Given the description of an element on the screen output the (x, y) to click on. 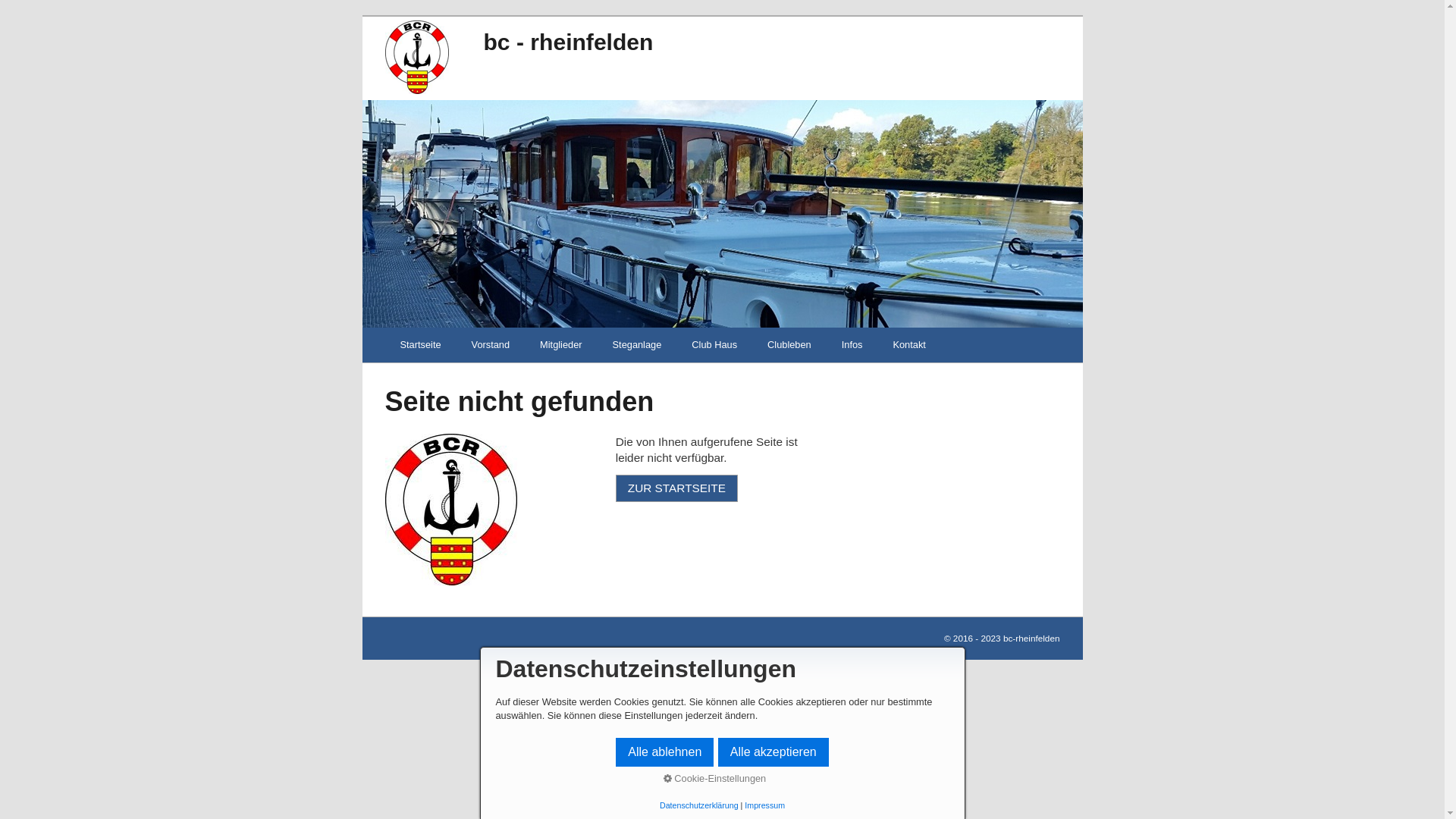
Club Haus Element type: text (714, 344)
Clubleben Element type: text (789, 344)
Alle akzeptieren Element type: text (773, 752)
Vorstand Element type: text (490, 344)
Steganlage Element type: text (637, 344)
Alle ablehnen Element type: text (664, 752)
ZUR STARTSEITE Element type: text (676, 488)
Startseite Element type: text (420, 344)
Cookie-Einstellungen Element type: text (714, 778)
Infos Element type: text (852, 344)
Impressum Element type: text (764, 804)
Kontakt Element type: text (908, 344)
bc - rheinfelden Element type: text (568, 41)
Mitglieder Element type: text (560, 344)
